Given the description of an element on the screen output the (x, y) to click on. 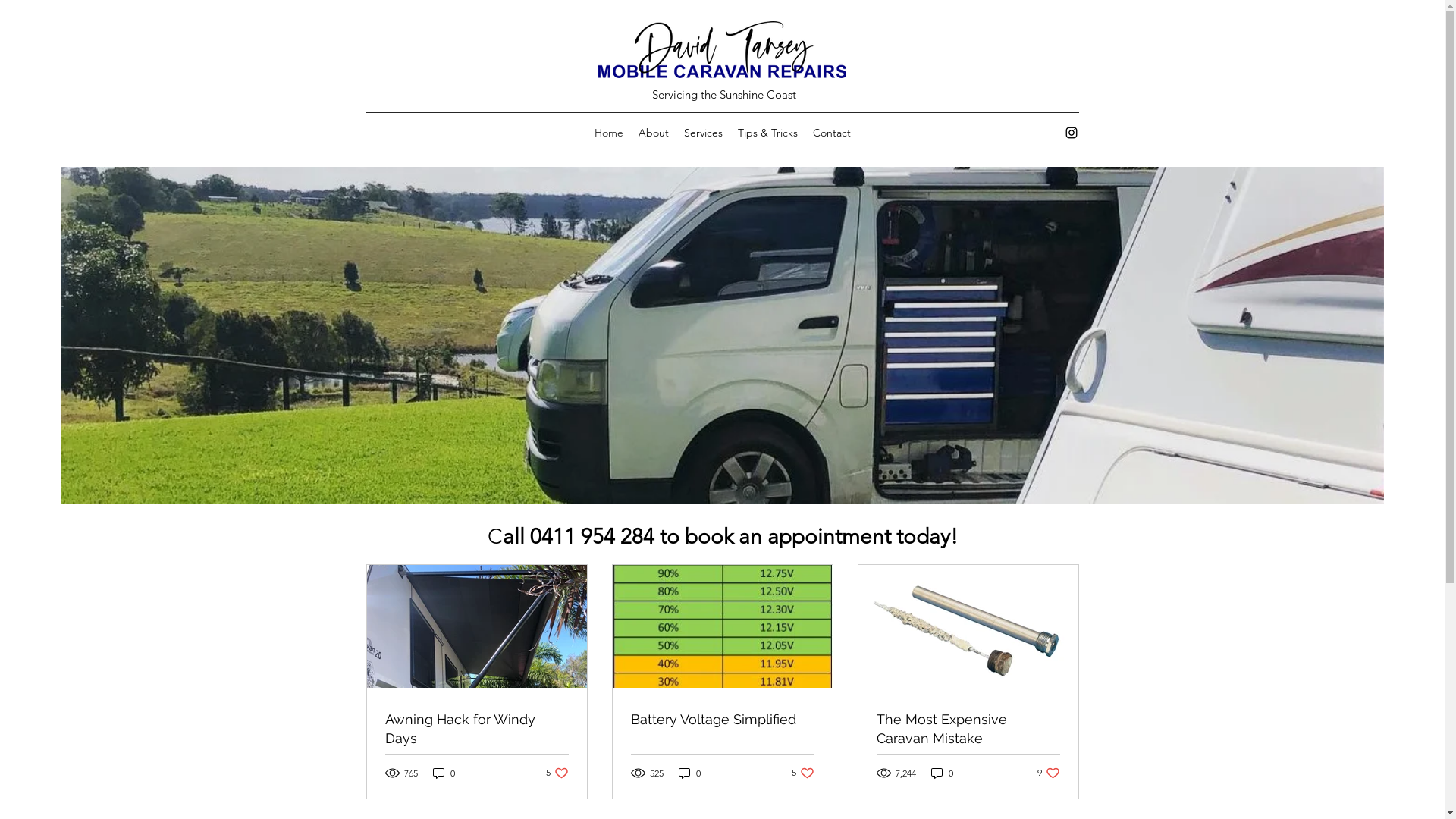
9 likes. Post not marked as liked
9 Element type: text (1048, 772)
Tips & Tricks Element type: text (766, 132)
5 likes. Post not marked as liked
5 Element type: text (557, 772)
5 likes. Post not marked as liked
5 Element type: text (802, 772)
Battery Voltage Simplified Element type: text (722, 718)
The Most Expensive Caravan Mistake Element type: text (968, 728)
Home Element type: text (608, 132)
0 Element type: text (688, 772)
Contact Element type: text (831, 132)
0 Element type: text (941, 772)
Awning Hack for Windy Days Element type: text (476, 728)
0 Element type: text (442, 772)
About Element type: text (653, 132)
Services Element type: text (703, 132)
